Given the description of an element on the screen output the (x, y) to click on. 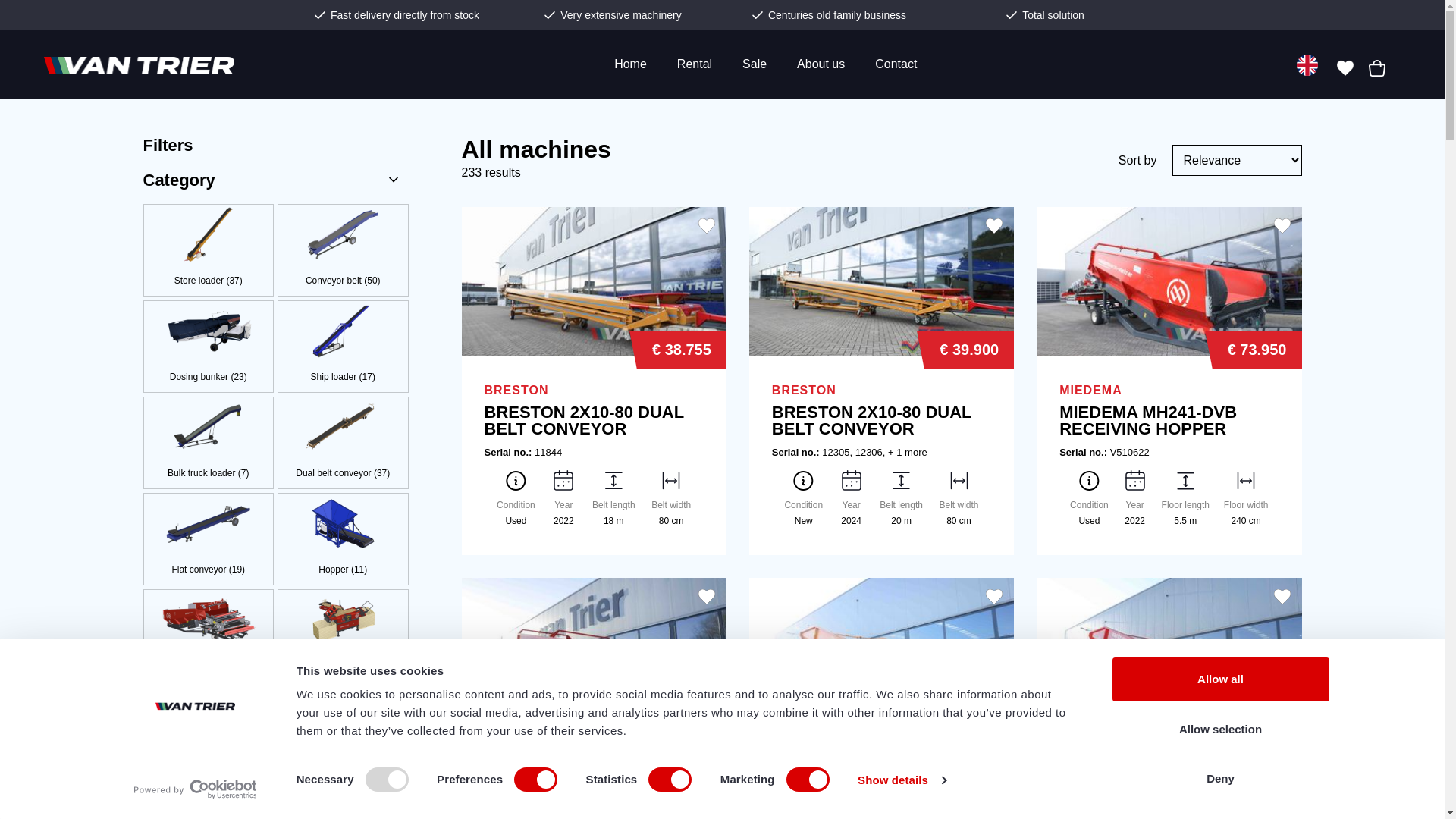
Deny (1219, 778)
Allow selection (1219, 728)
Show details (900, 780)
Allow all (1219, 679)
